Given the description of an element on the screen output the (x, y) to click on. 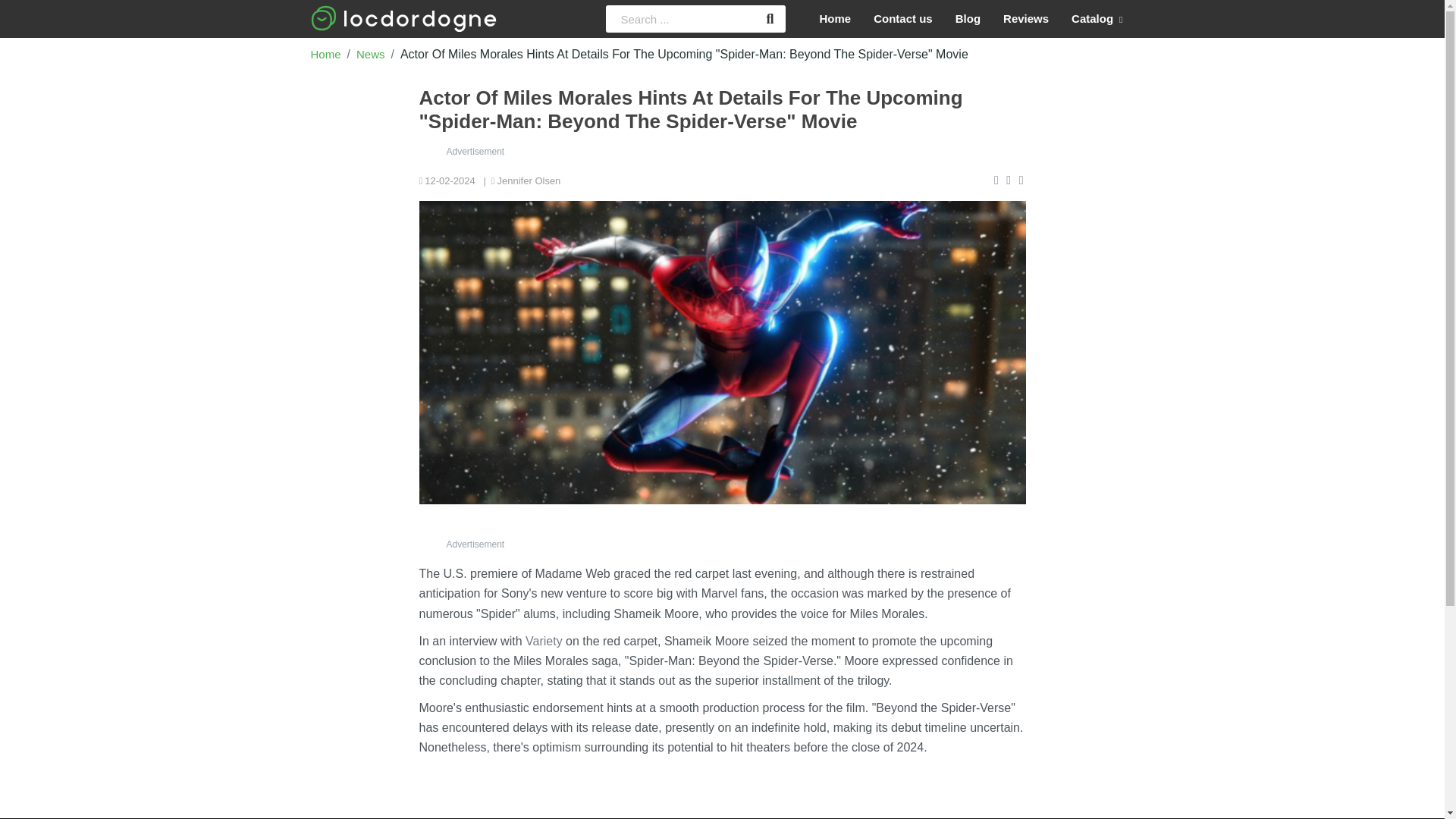
Reviews (1025, 18)
Catalog (1096, 18)
Home (835, 18)
Home (325, 53)
locdordogne-logo (403, 18)
Contact us (902, 18)
Variety (543, 640)
locdordogne-logo (403, 18)
News (370, 53)
Blog (967, 18)
